Given the description of an element on the screen output the (x, y) to click on. 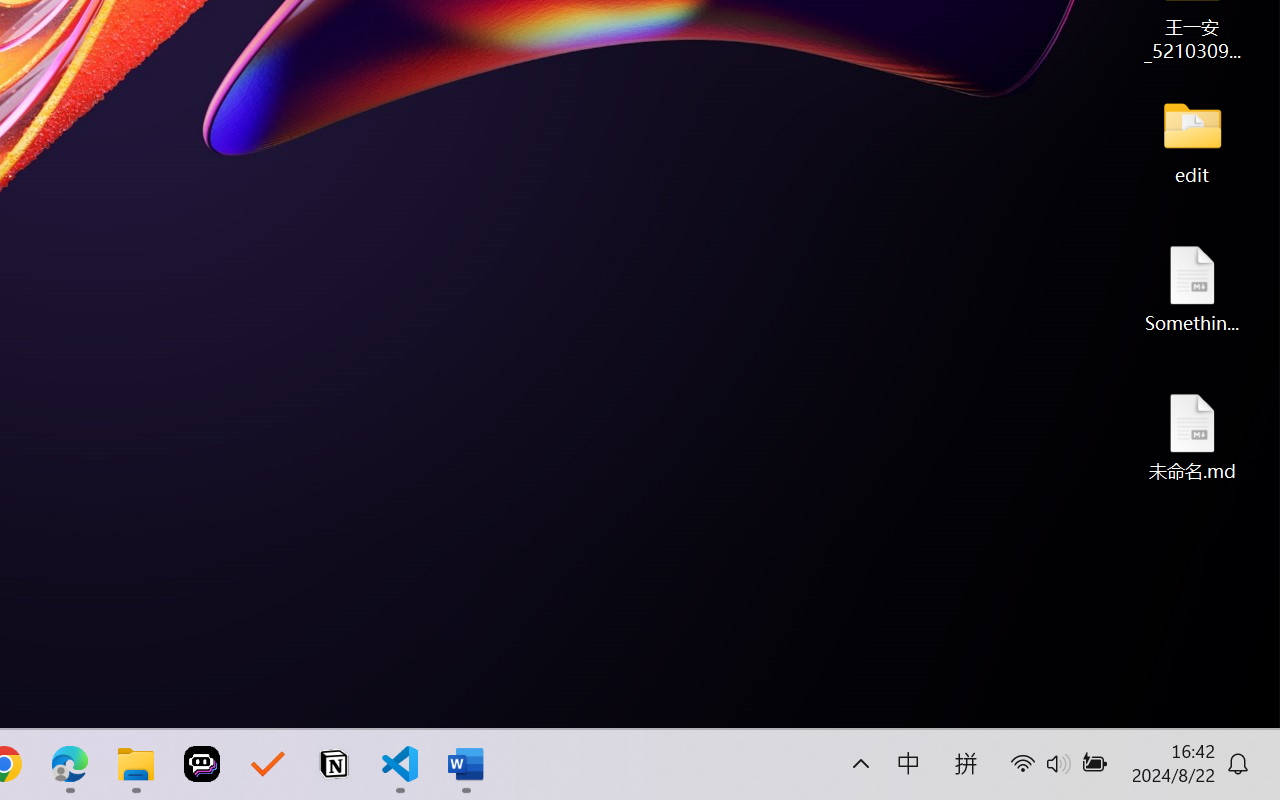
Something.md (1192, 288)
